Given the description of an element on the screen output the (x, y) to click on. 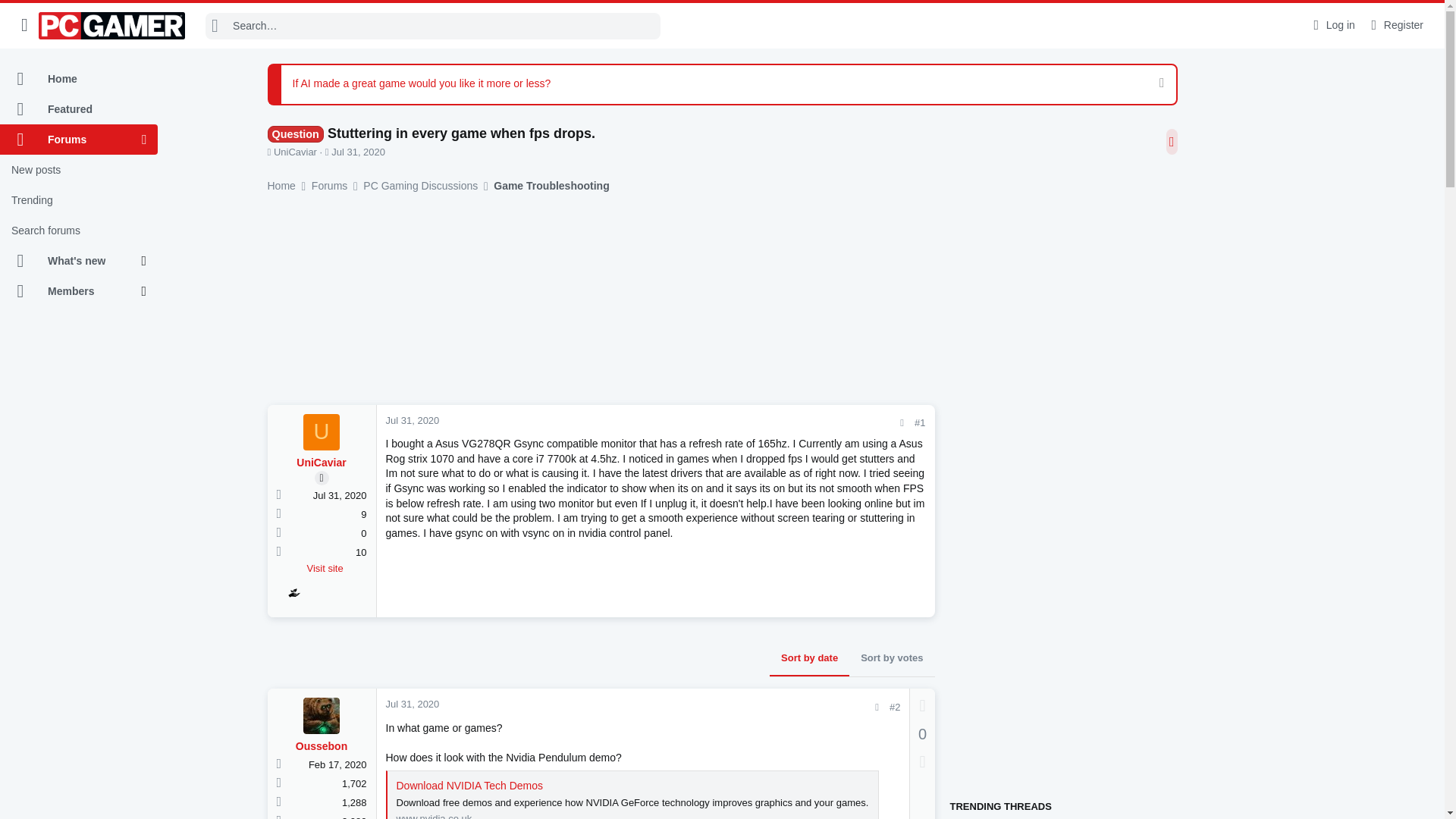
Original poster (321, 477)
Jul 31, 2020 at 7:08 PM (358, 152)
Register (1395, 24)
Search forums (78, 230)
Home (78, 78)
Log in (1332, 24)
Trending (78, 200)
Forums (70, 139)
Featured (78, 109)
New posts (78, 169)
What's new (70, 260)
